Given the description of an element on the screen output the (x, y) to click on. 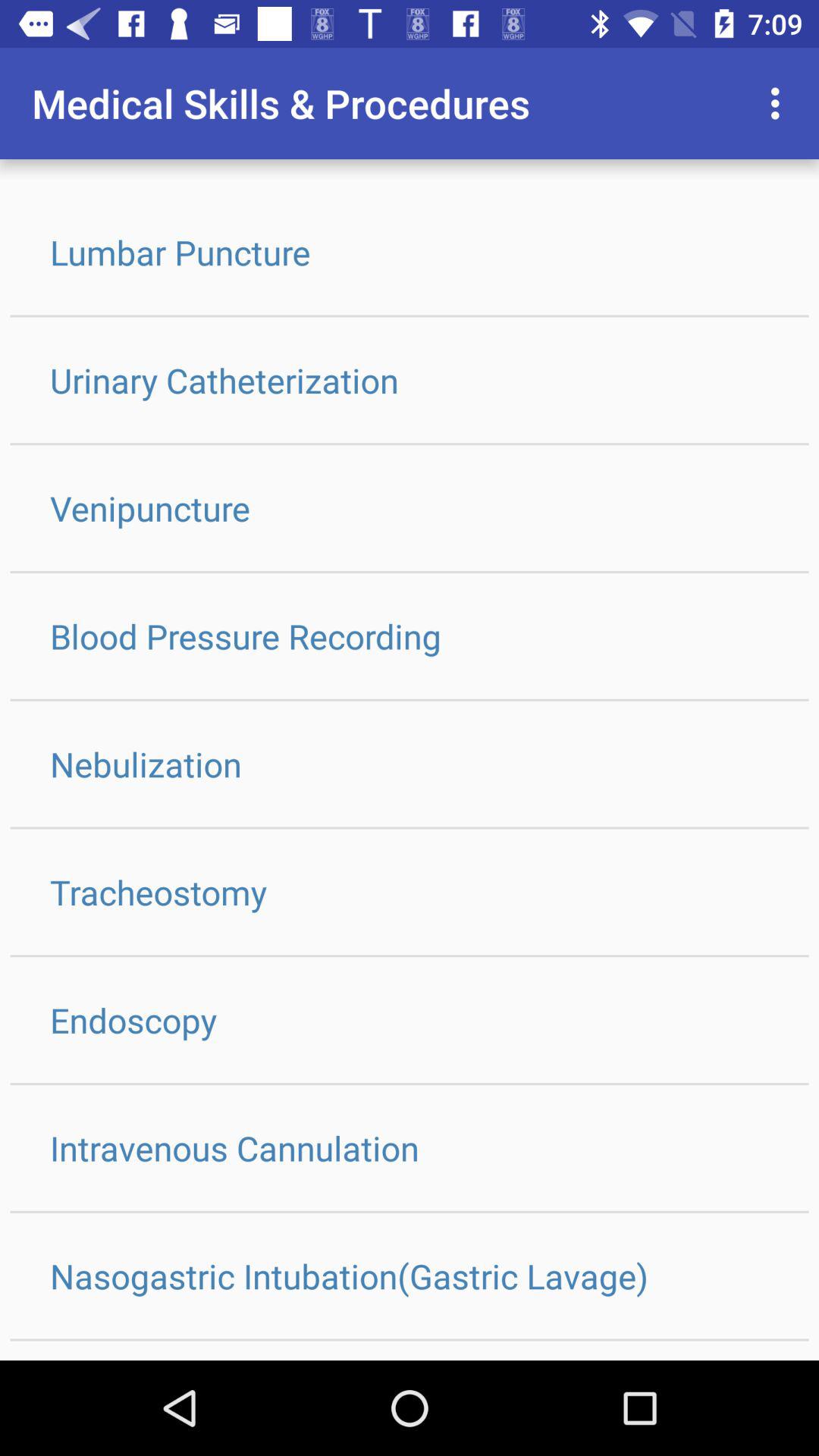
click lumbar puncture icon (409, 252)
